Given the description of an element on the screen output the (x, y) to click on. 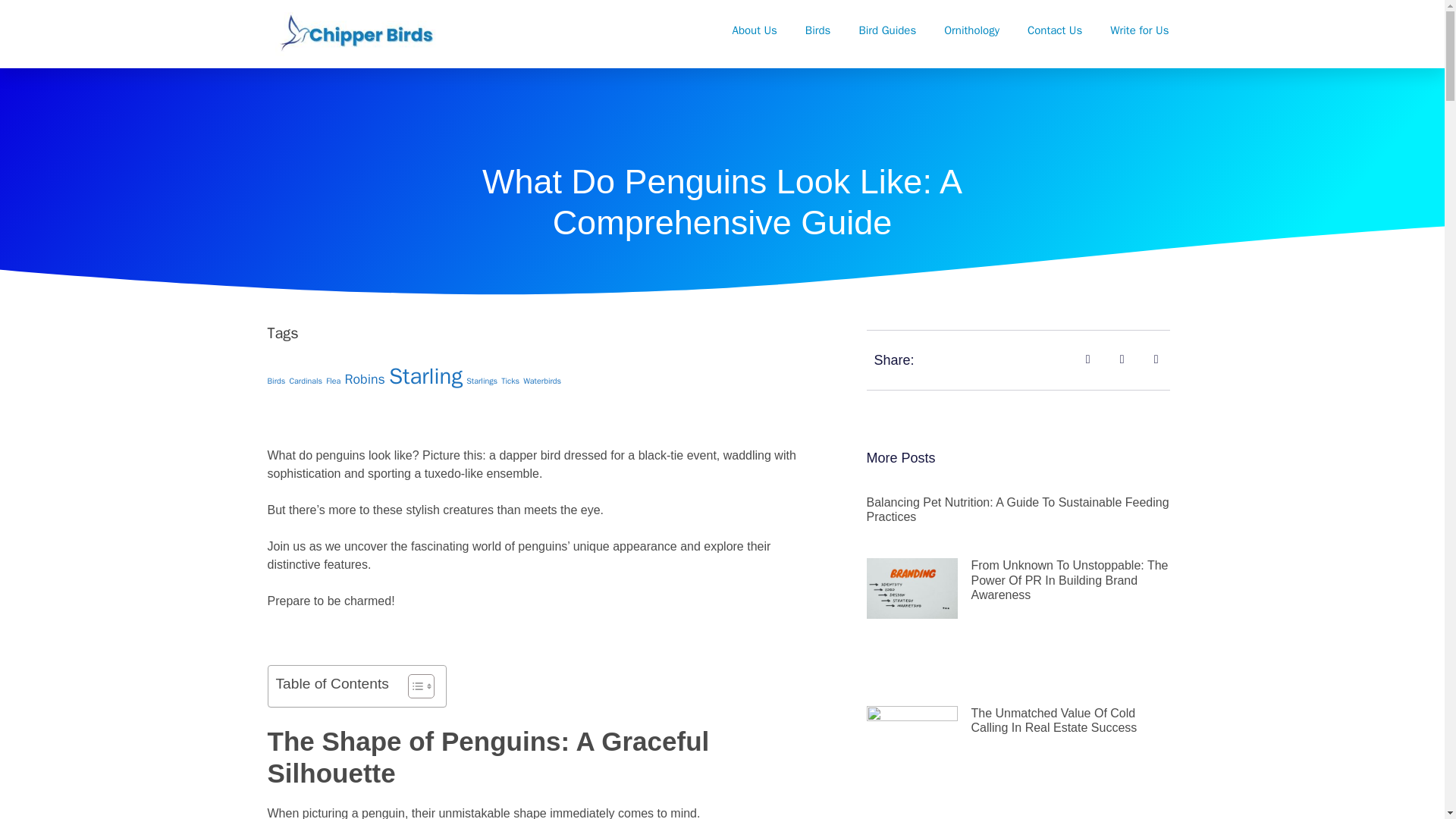
Flea (333, 380)
Birds (275, 380)
About Us (754, 29)
Waterbirds (541, 380)
Starling (425, 376)
Starlings (481, 380)
Bird Guides (887, 29)
Write for Us (1139, 29)
Birds (818, 29)
Ticks (509, 380)
